Given the description of an element on the screen output the (x, y) to click on. 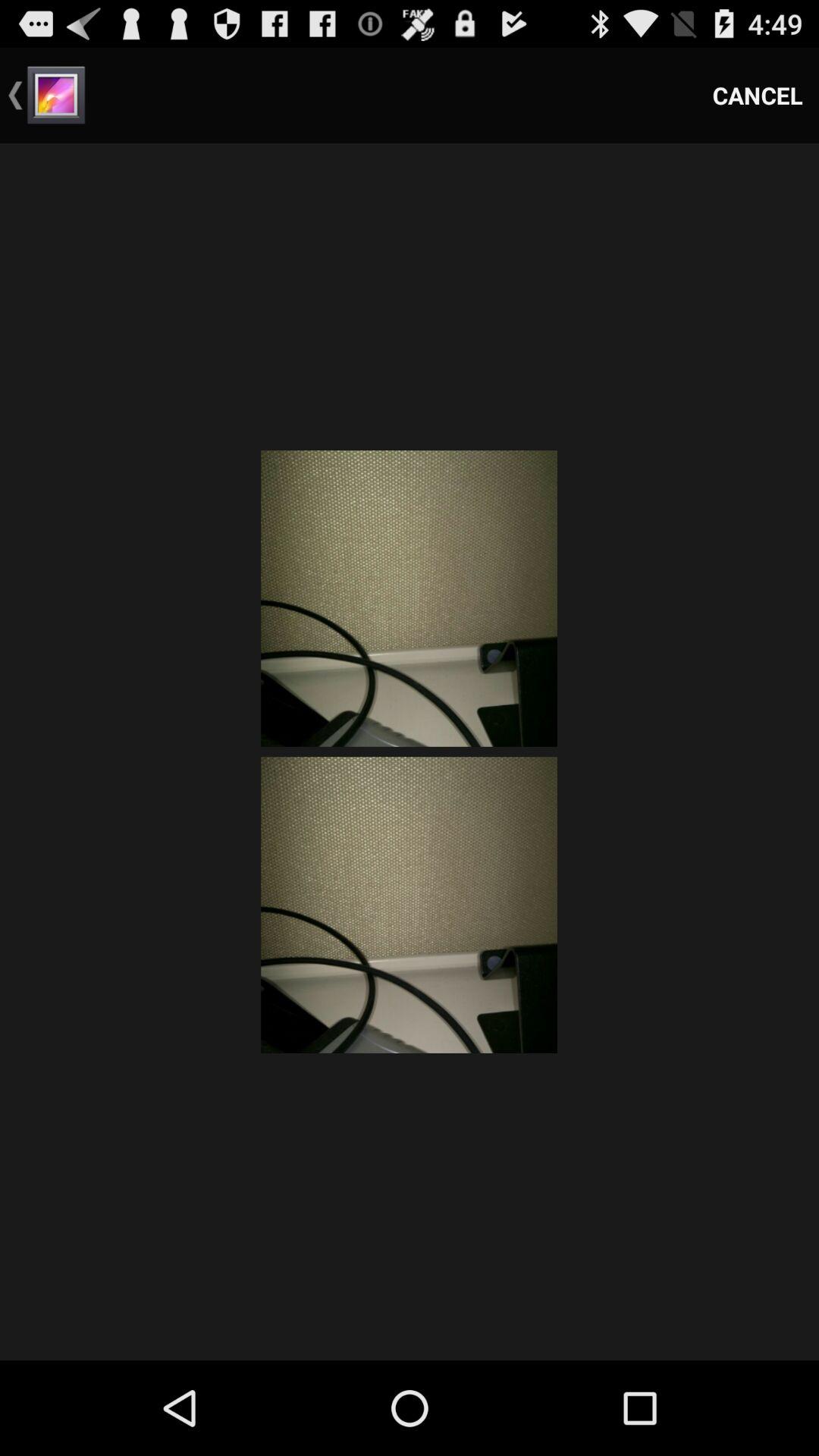
launch the item at the top right corner (757, 95)
